Given the description of an element on the screen output the (x, y) to click on. 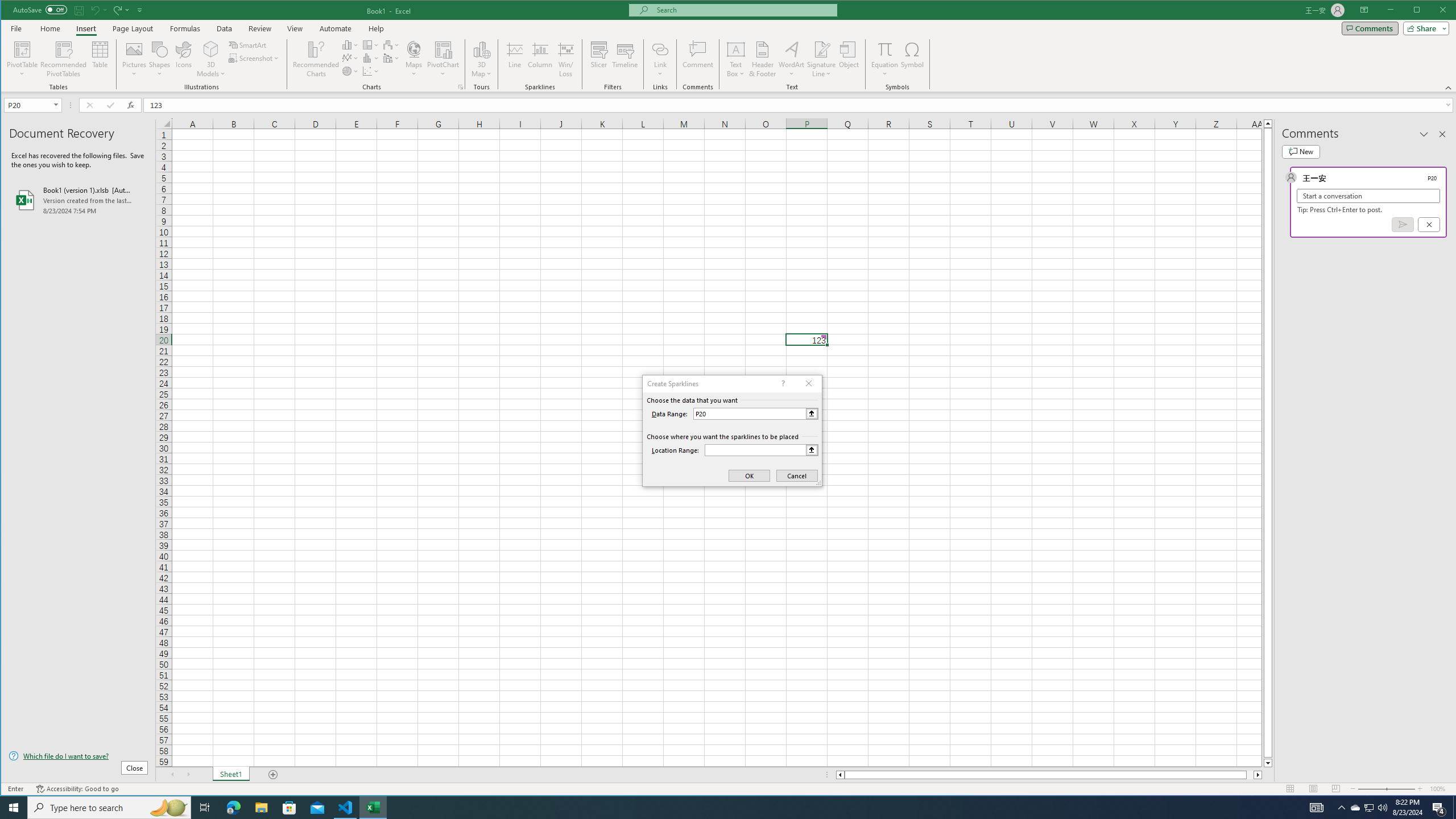
Timeline (625, 59)
Insert Pie or Doughnut Chart (350, 70)
New comment (1300, 151)
3D Map (481, 59)
Insert Combo Chart (391, 57)
Equation (884, 59)
